Given the description of an element on the screen output the (x, y) to click on. 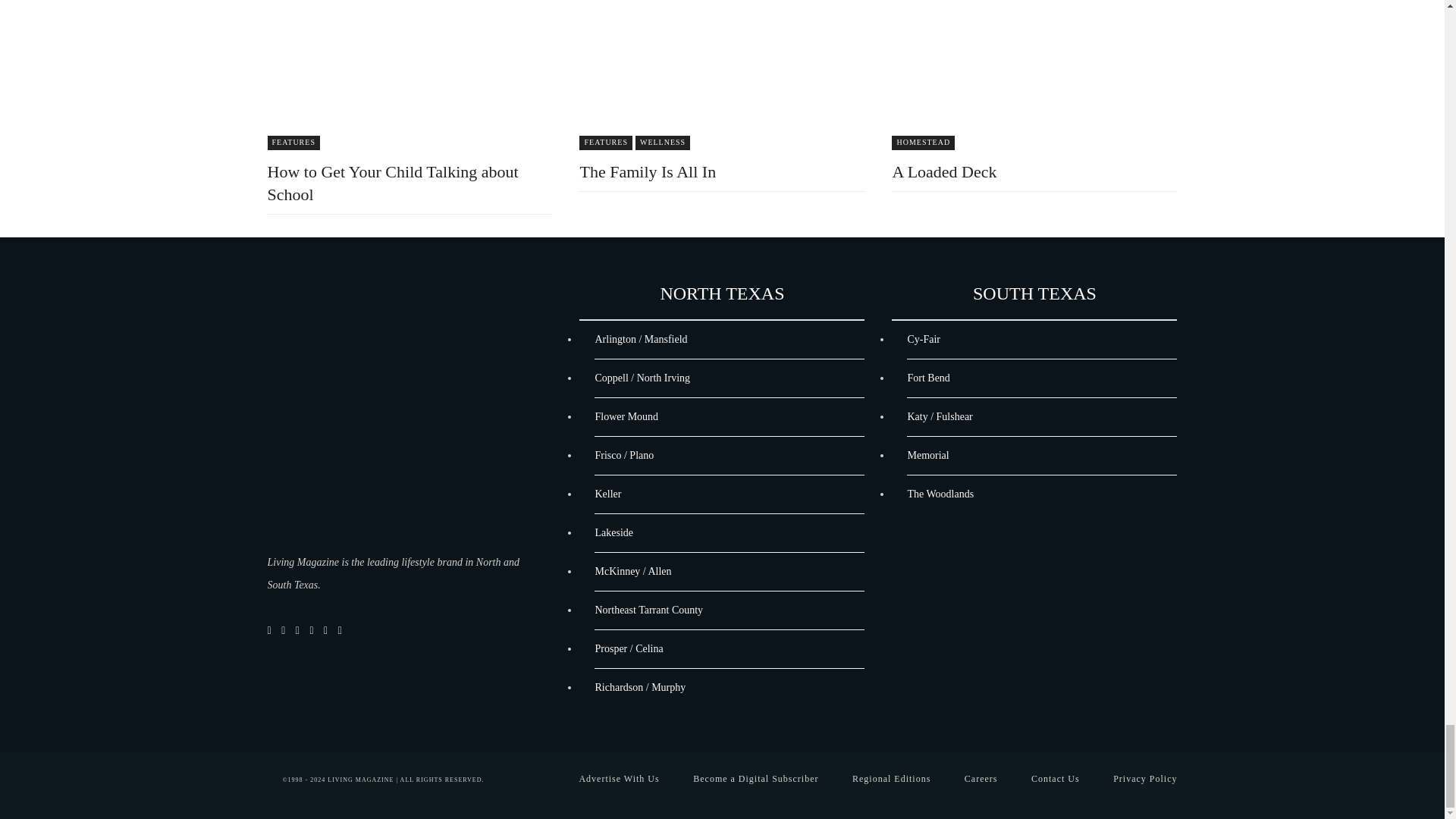
View all posts in 384 (605, 142)
View all posts in 53 (662, 142)
View all posts in 384 (292, 142)
Living Magazine - Digital Edition (397, 419)
View all posts in 54 (923, 142)
